Given the description of an element on the screen output the (x, y) to click on. 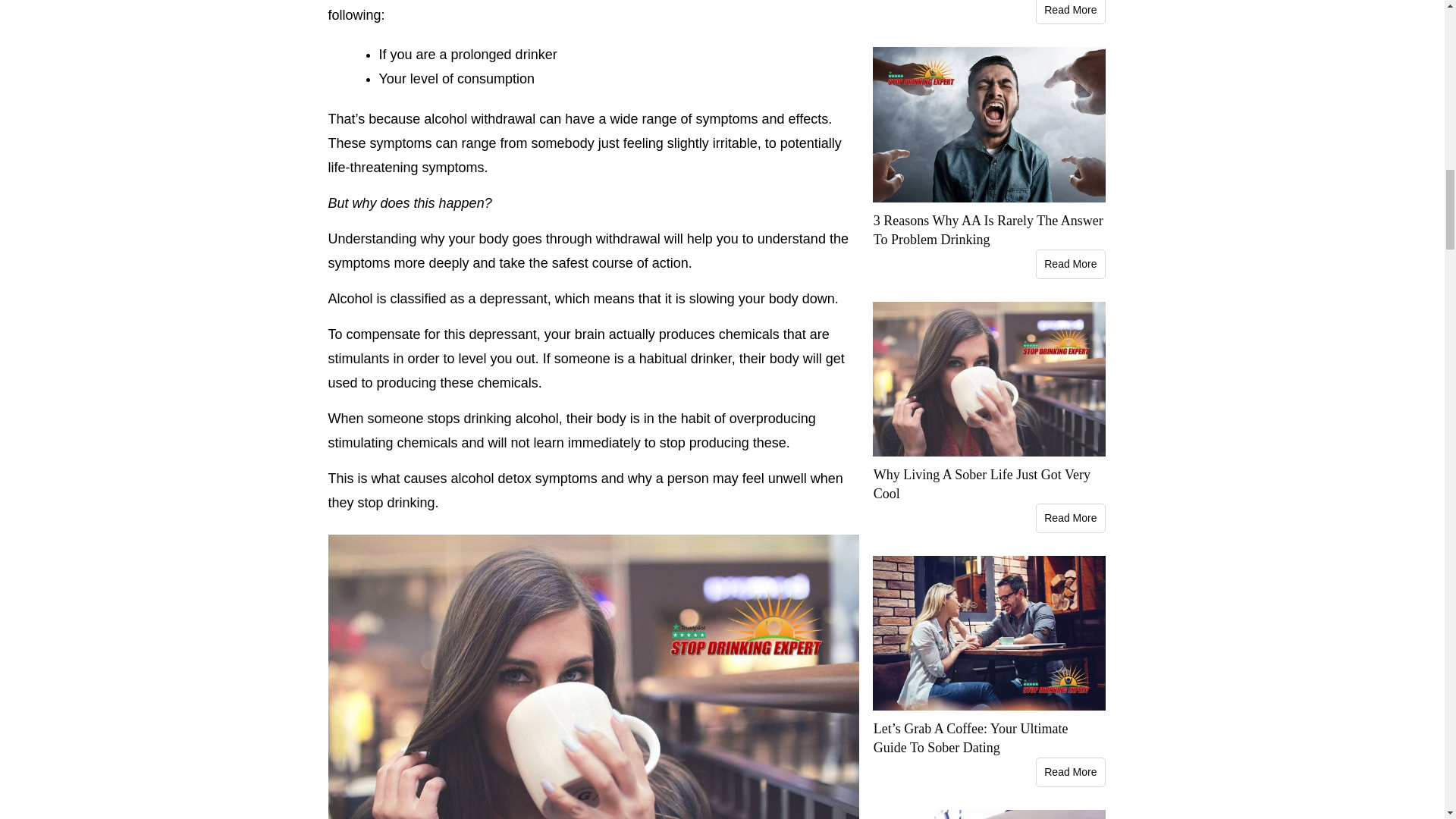
Truth Time! Is Alcohol a Stimulant or Depressant? (513, 298)
your brain (574, 334)
depressant (513, 298)
stop drinking (396, 502)
Stop Drinking (396, 502)
